Given the description of an element on the screen output the (x, y) to click on. 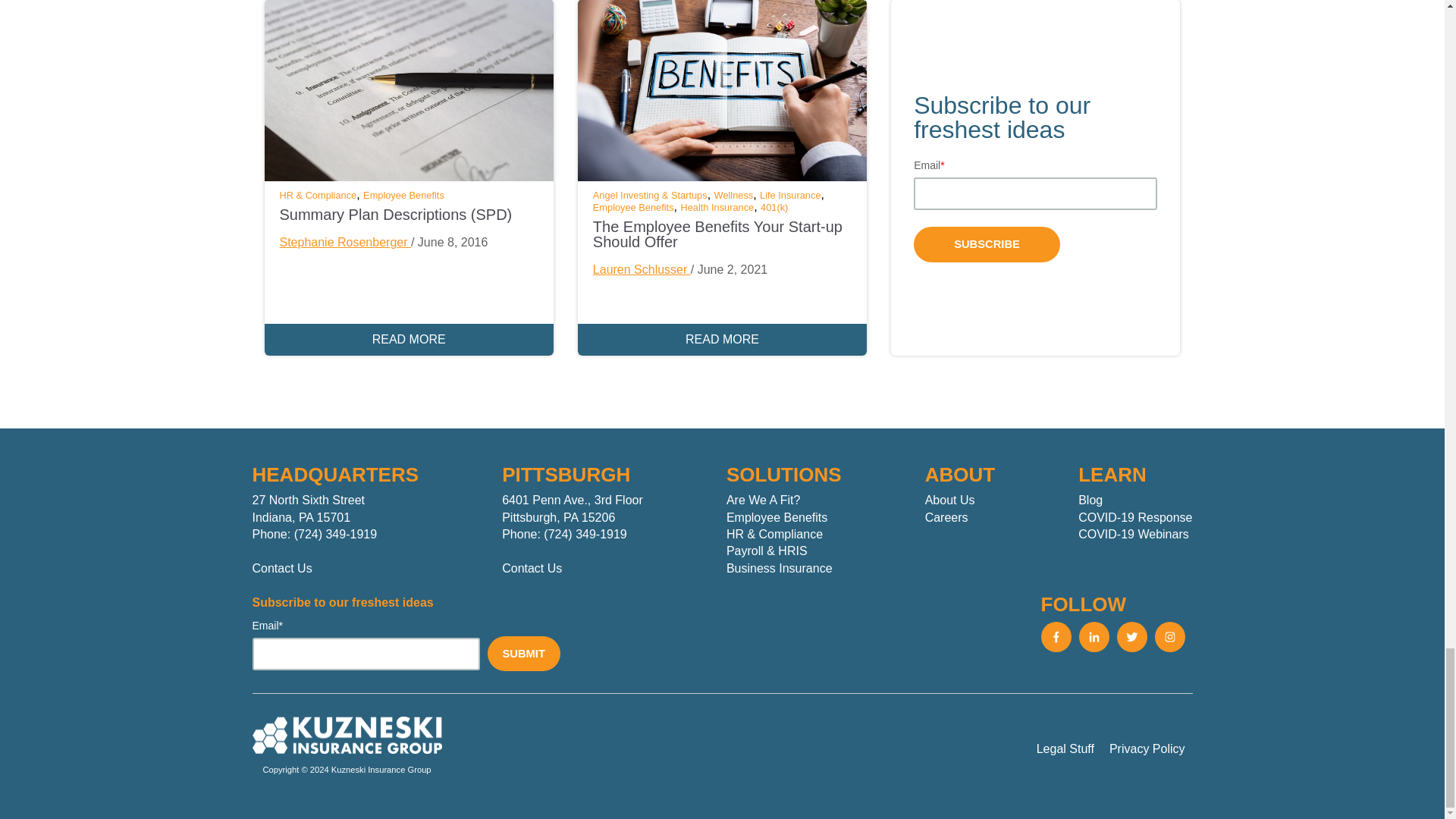
Subscribe (986, 243)
Submit (522, 653)
Kuzneski Logo (346, 734)
